Given the description of an element on the screen output the (x, y) to click on. 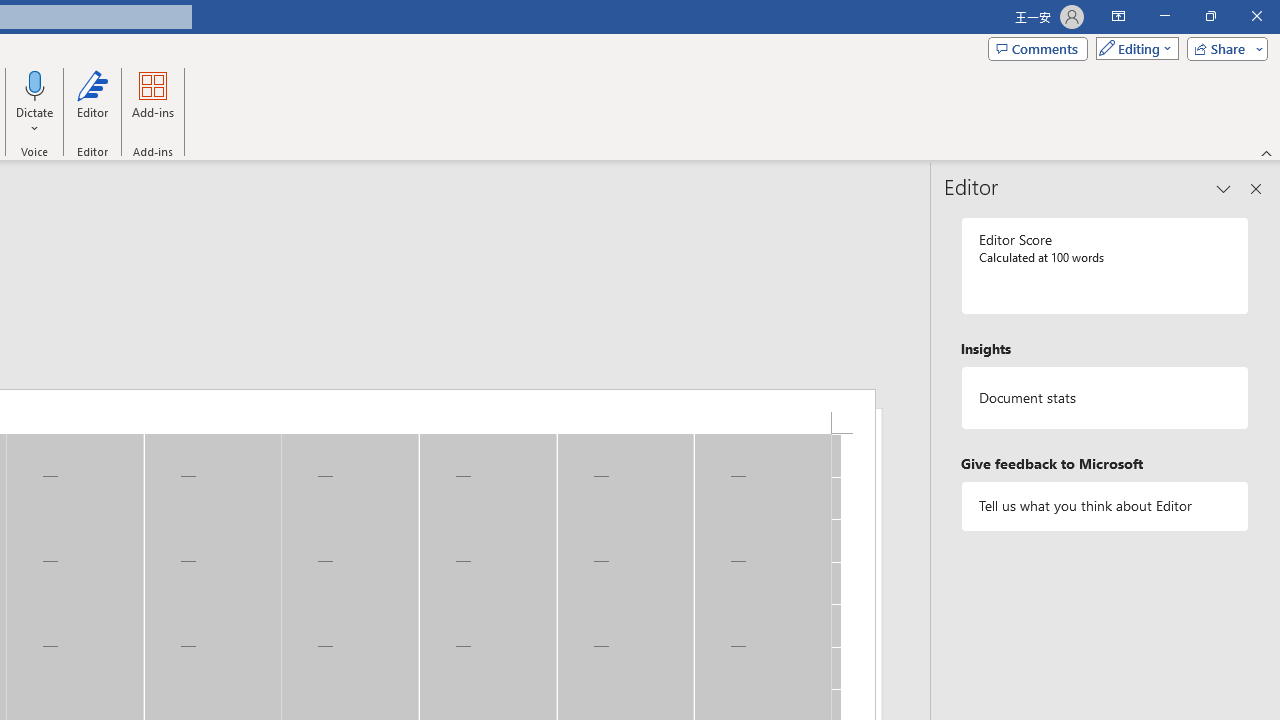
Mode (1133, 47)
